Given the description of an element on the screen output the (x, y) to click on. 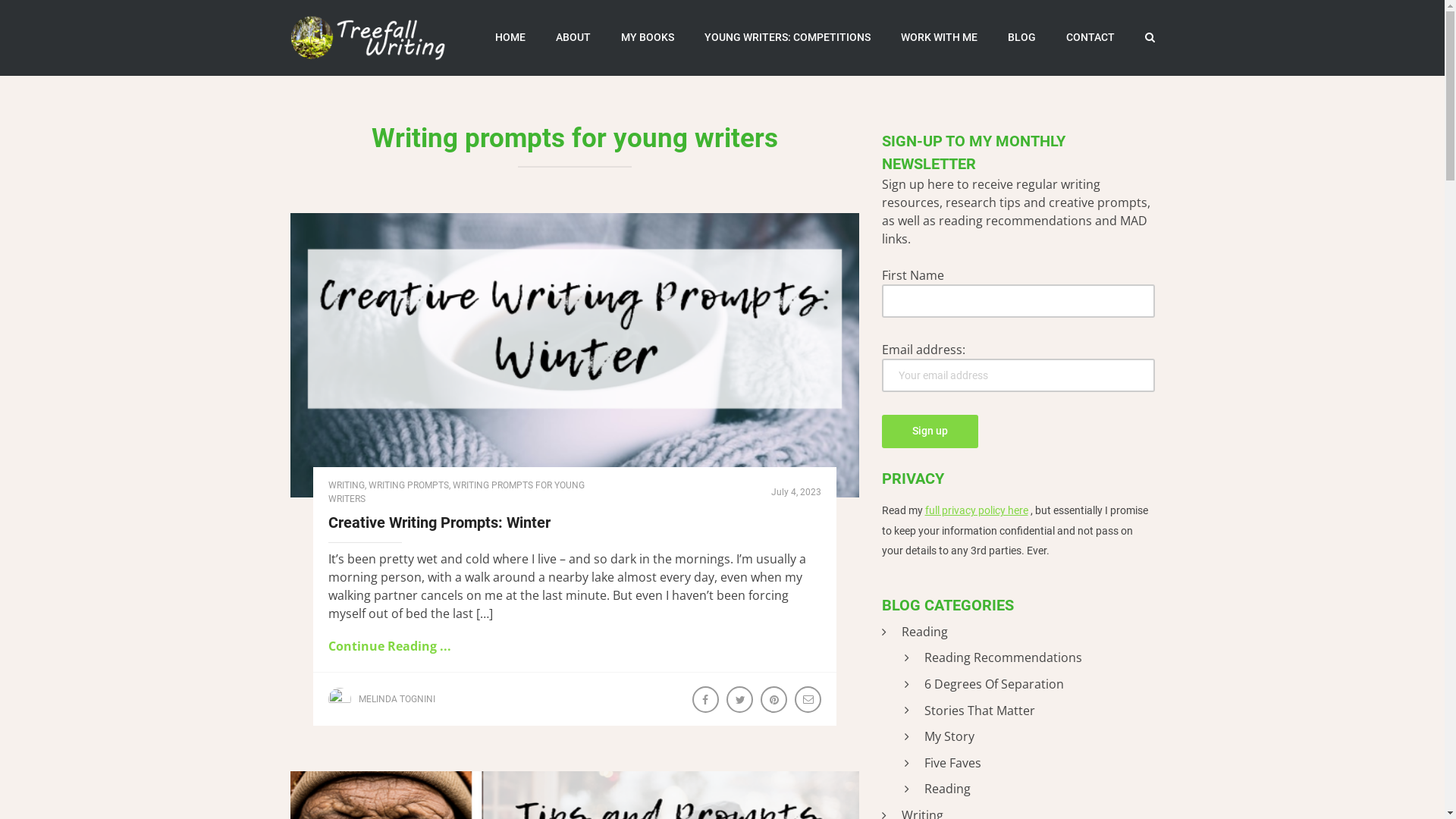
Share on Twitter Element type: hover (741, 700)
6 Degrees Of Separation Element type: text (983, 684)
My Story Element type: text (938, 736)
Pin this Element type: hover (774, 700)
Reading Element type: text (914, 632)
Email Element type: hover (809, 700)
WRITING PROMPTS Element type: text (408, 484)
Reading Recommendations Element type: text (992, 658)
CONTACT Element type: text (1090, 37)
WORK WITH ME Element type: text (938, 37)
Reading Element type: text (936, 789)
WRITING PROMPTS FOR YOUNG WRITERS Element type: text (455, 491)
HOME Element type: text (509, 37)
YOUNG WRITERS: COMPETITIONS Element type: text (786, 37)
full privacy policy here Element type: text (976, 510)
MY BOOKS Element type: text (646, 37)
Stories That Matter Element type: text (968, 711)
WRITING Element type: text (345, 484)
BLOG Element type: text (1020, 37)
Continue Reading ... Element type: text (388, 645)
Share on Facebook Element type: hover (706, 700)
MELINDA TOGNINI Element type: text (395, 698)
Sign up Element type: text (929, 431)
Five Faves Element type: text (941, 763)
Creative Writing Prompts: Winter Element type: text (438, 521)
ABOUT Element type: text (572, 37)
